Given the description of an element on the screen output the (x, y) to click on. 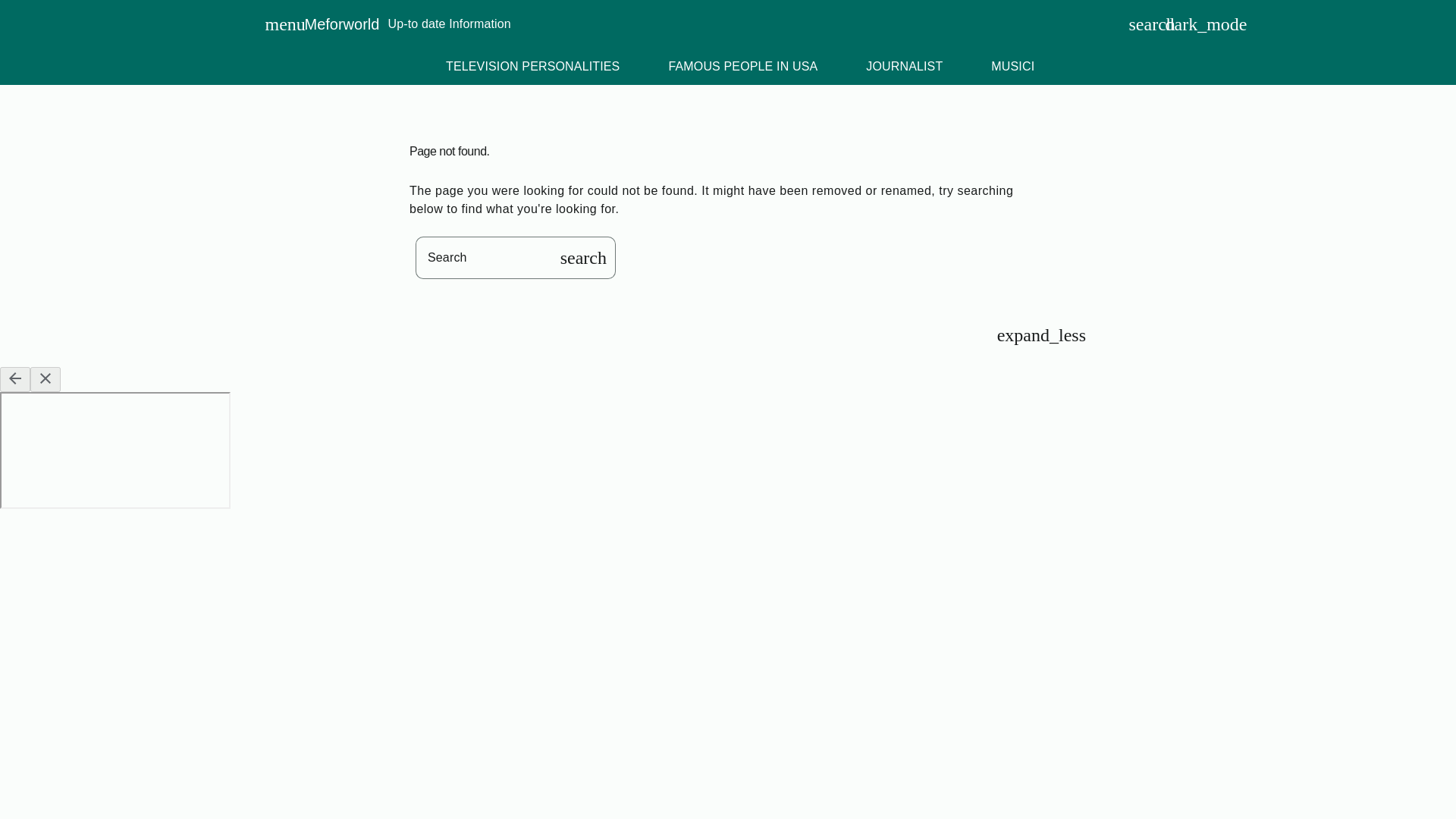
DOCTORS (1138, 66)
ACTRESS (1347, 66)
MUSICIANS (1024, 66)
menu (274, 23)
MODELS (1243, 66)
Meforworld (342, 23)
JOURNALIST (903, 66)
TELEVISION PERSONALITIES (532, 66)
search (1137, 23)
FAMOUS PEOPLE IN USA (742, 66)
